Given the description of an element on the screen output the (x, y) to click on. 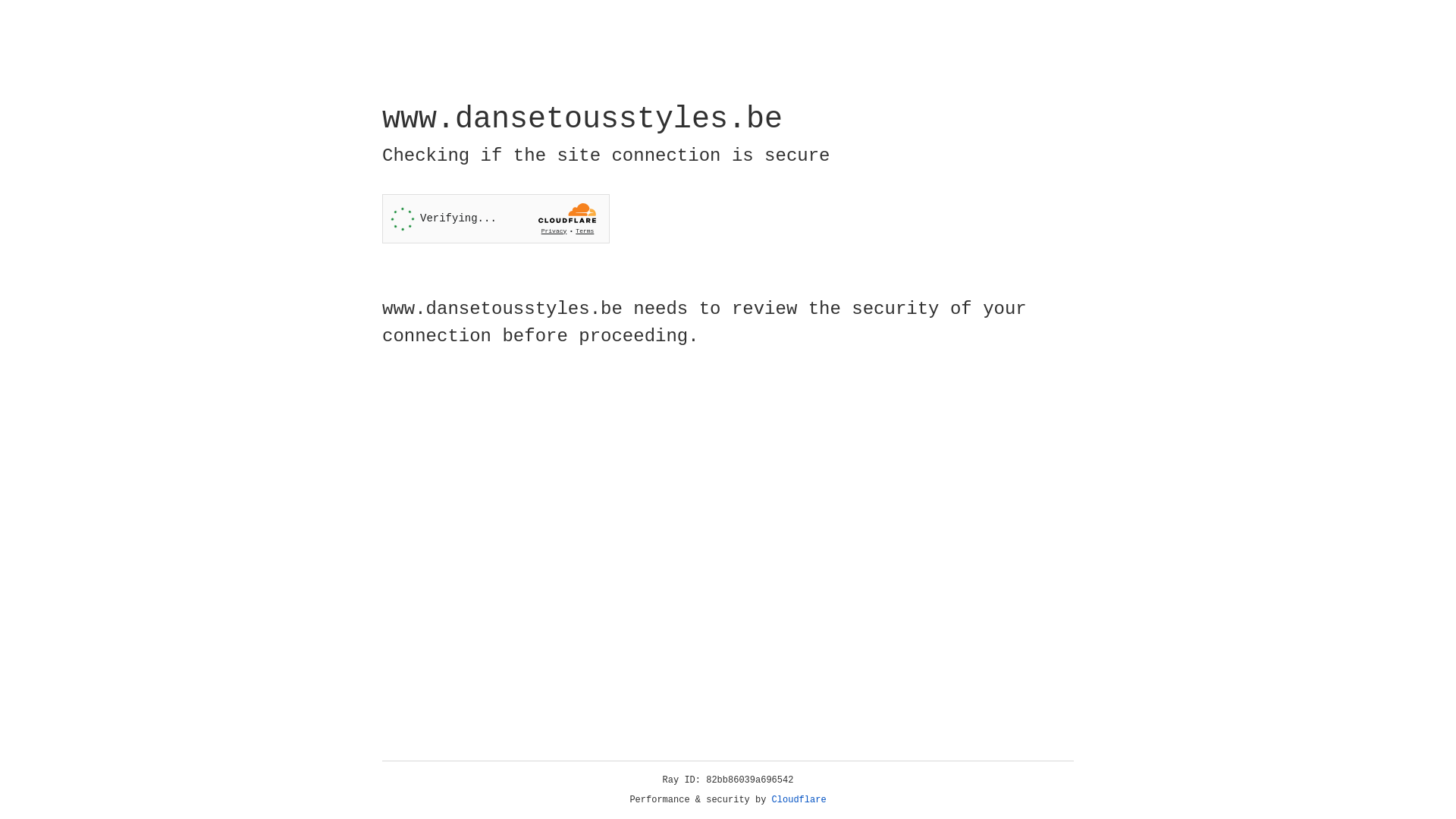
Cloudflare Element type: text (798, 799)
Widget containing a Cloudflare security challenge Element type: hover (495, 218)
